Given the description of an element on the screen output the (x, y) to click on. 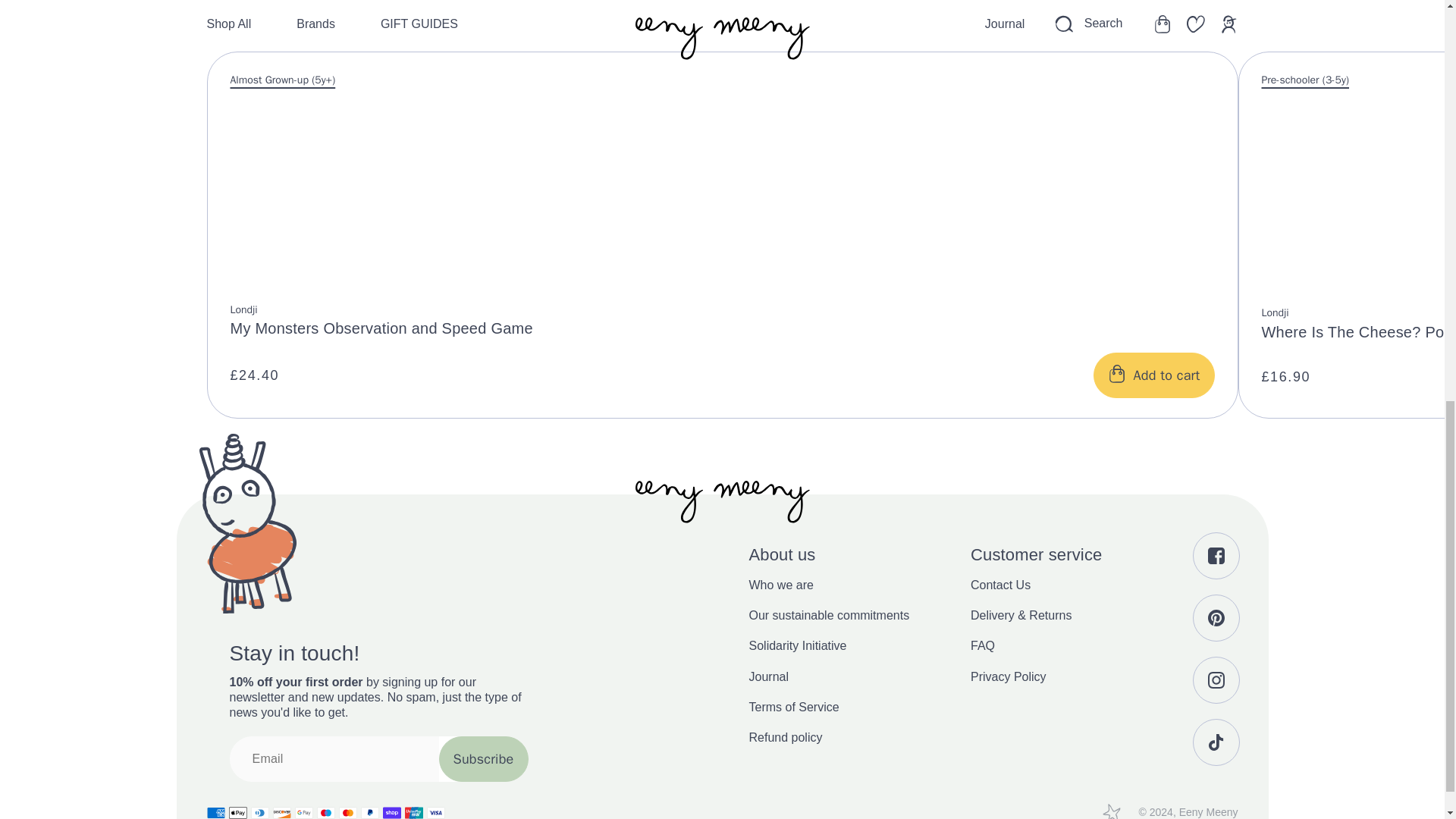
Apple Pay (237, 811)
Diners Club (258, 811)
American Express (215, 811)
Discover (282, 811)
